Given the description of an element on the screen output the (x, y) to click on. 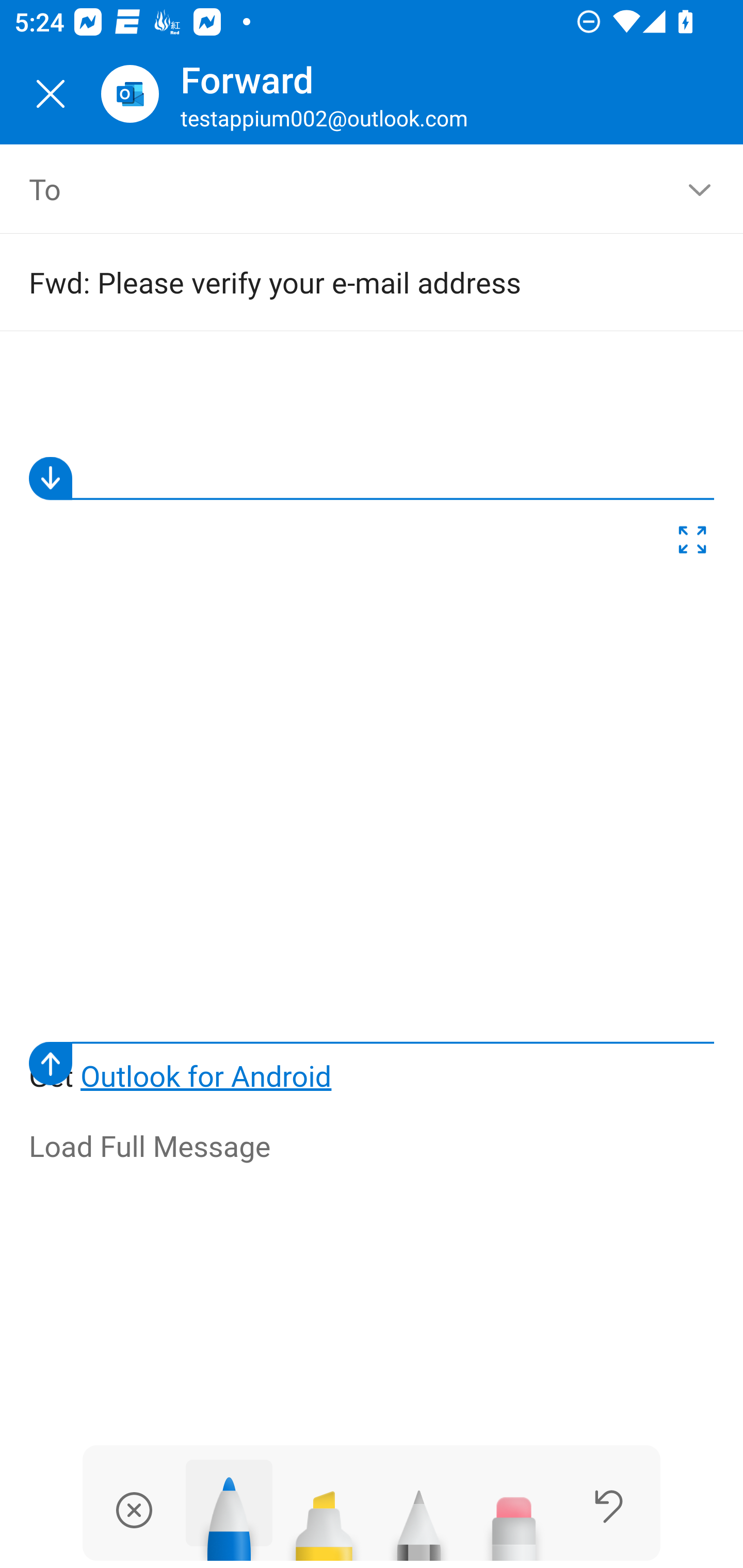
Close (50, 93)
Fwd: Please verify your e-mail address (342, 281)


Get Outlook for Android (372, 726)
Canvas upper bound (371, 478)
Expand Drawing (692, 544)
Canvas Lower Bound (371, 1063)
Load Full Message (372, 1146)
Pen tool (228, 1509)
Undo last stroke (608, 1505)
dismiss ink and save drawing (133, 1510)
Highlighter tool (323, 1517)
Pencil tool (418, 1517)
Eraser tool (513, 1517)
